Given the description of an element on the screen output the (x, y) to click on. 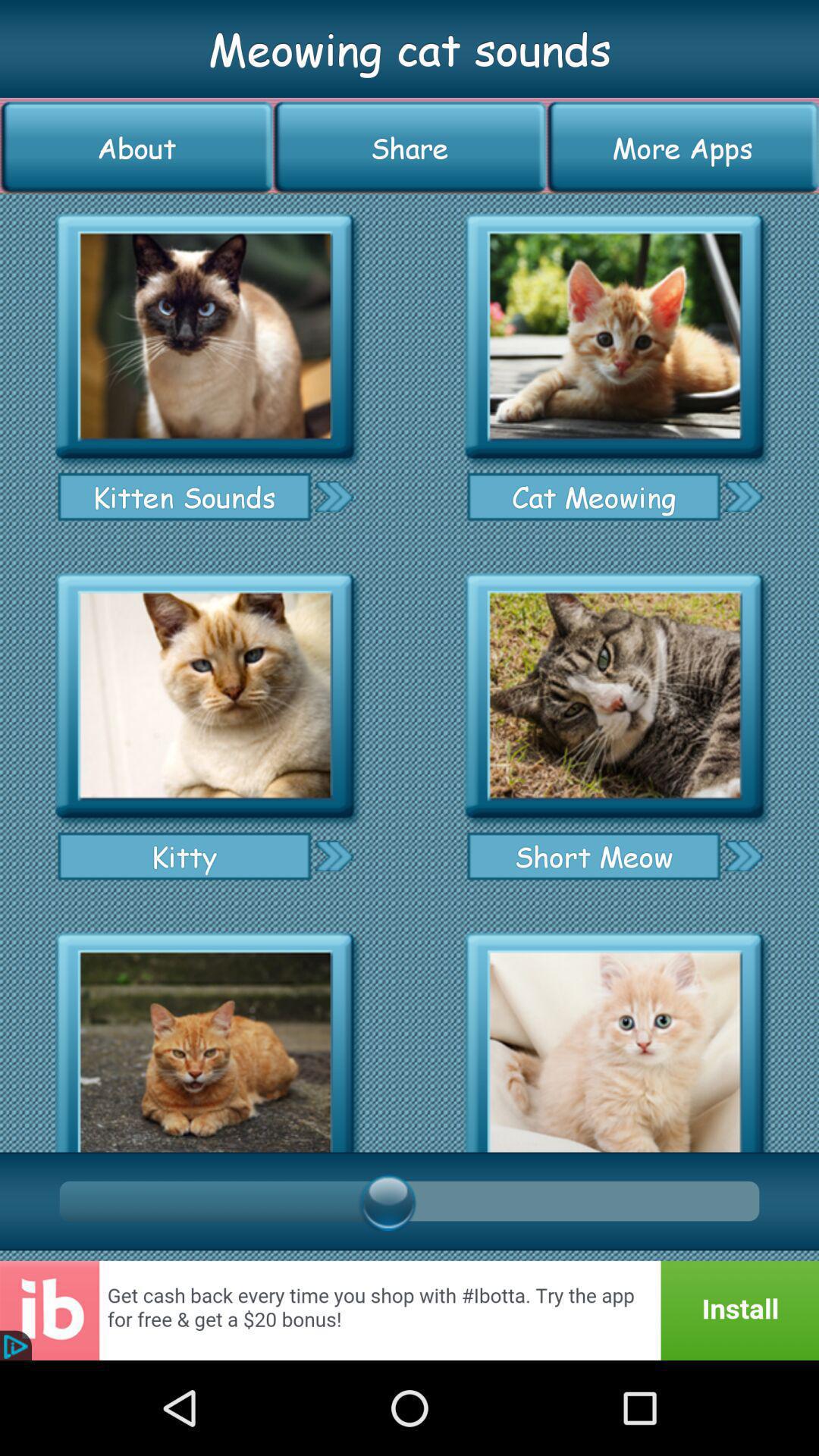
open item next to share item (136, 147)
